Given the description of an element on the screen output the (x, y) to click on. 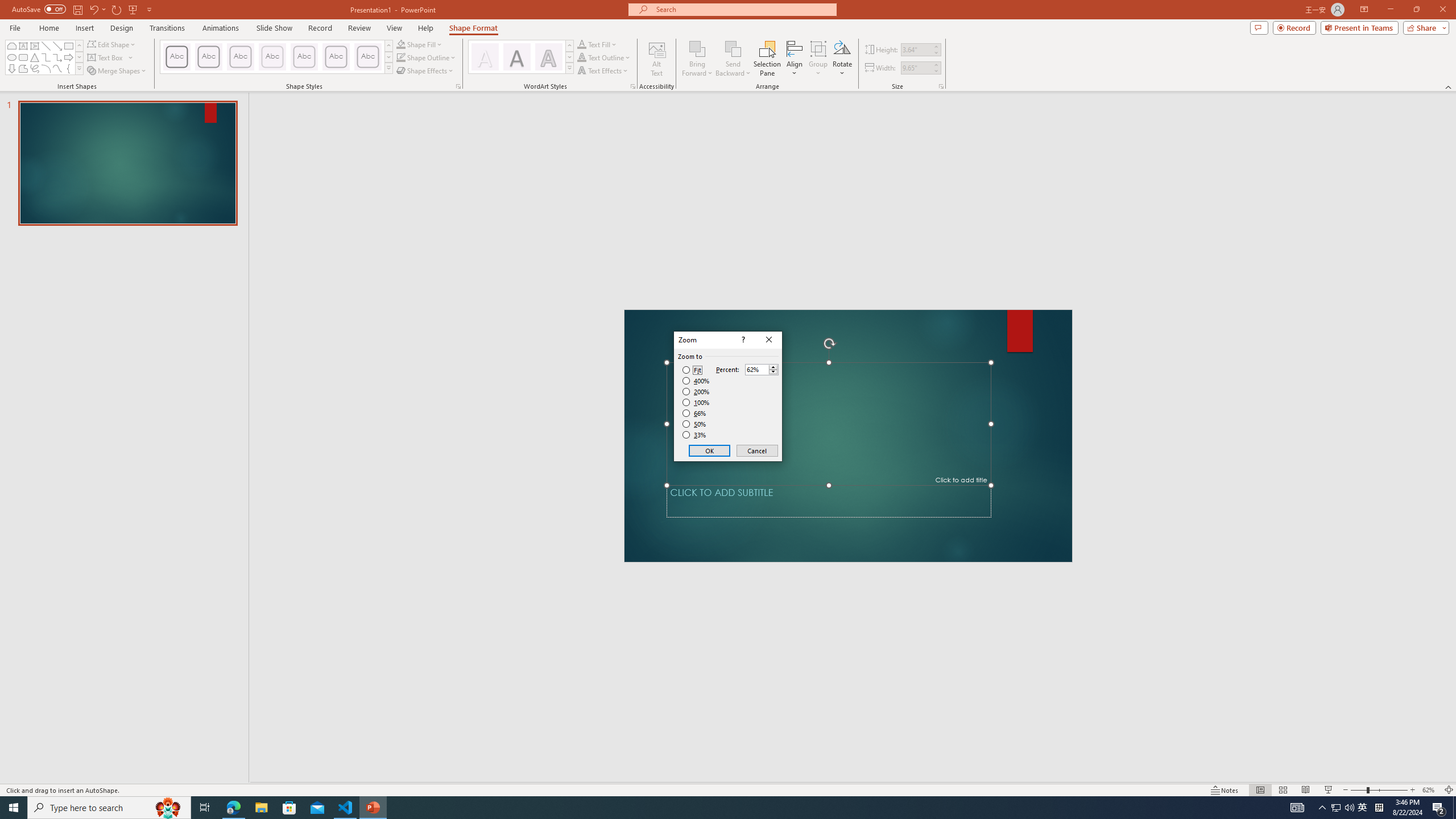
Context help (742, 339)
Colored Outline - Green, Accent 4 (304, 56)
66% (694, 412)
Cancel (756, 450)
